Given the description of an element on the screen output the (x, y) to click on. 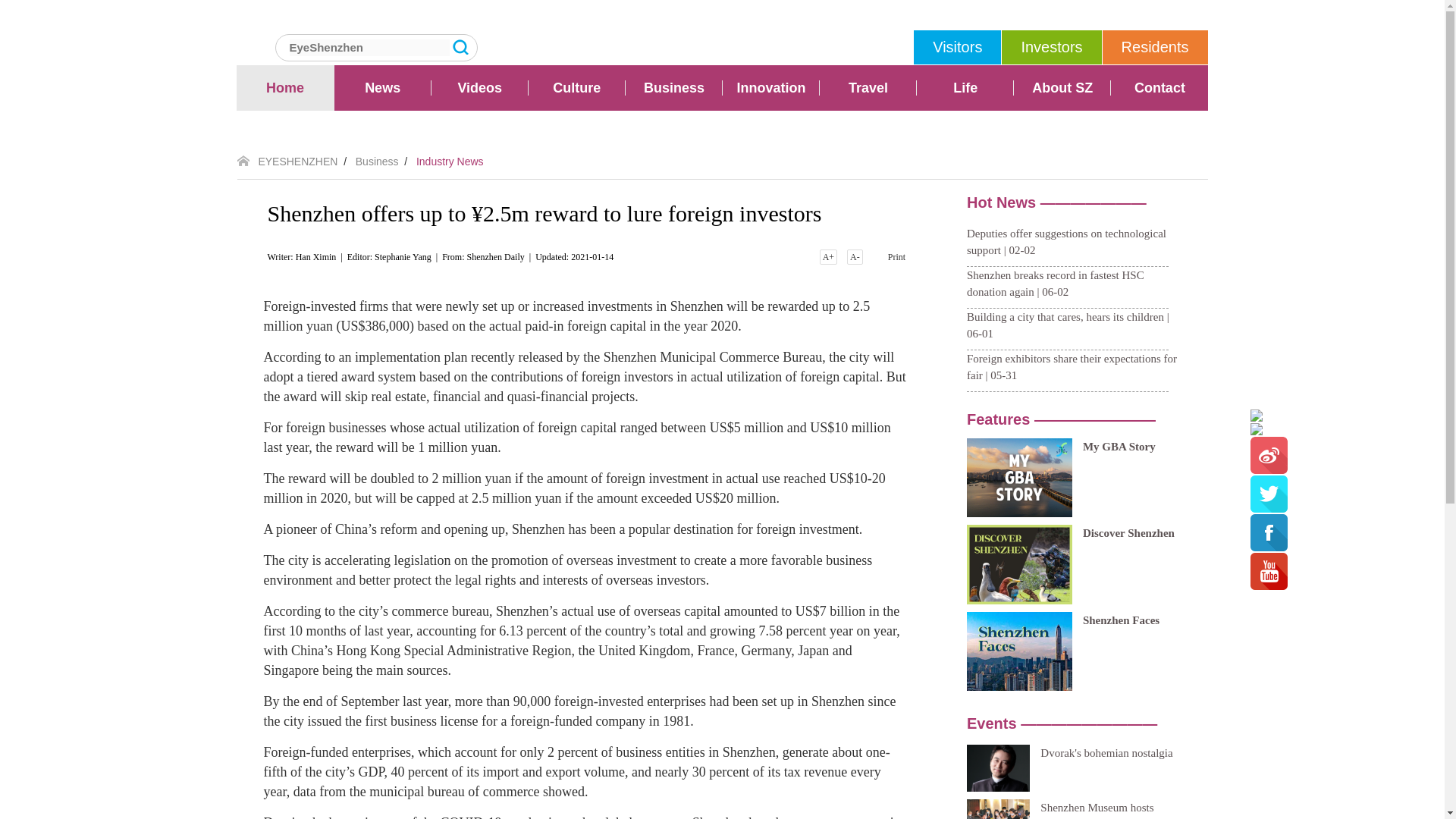
News (382, 87)
Investors (1050, 47)
Residents (1155, 47)
Videos (479, 87)
Home (284, 87)
Culture (577, 87)
Business (674, 87)
Visitors (957, 47)
